Given the description of an element on the screen output the (x, y) to click on. 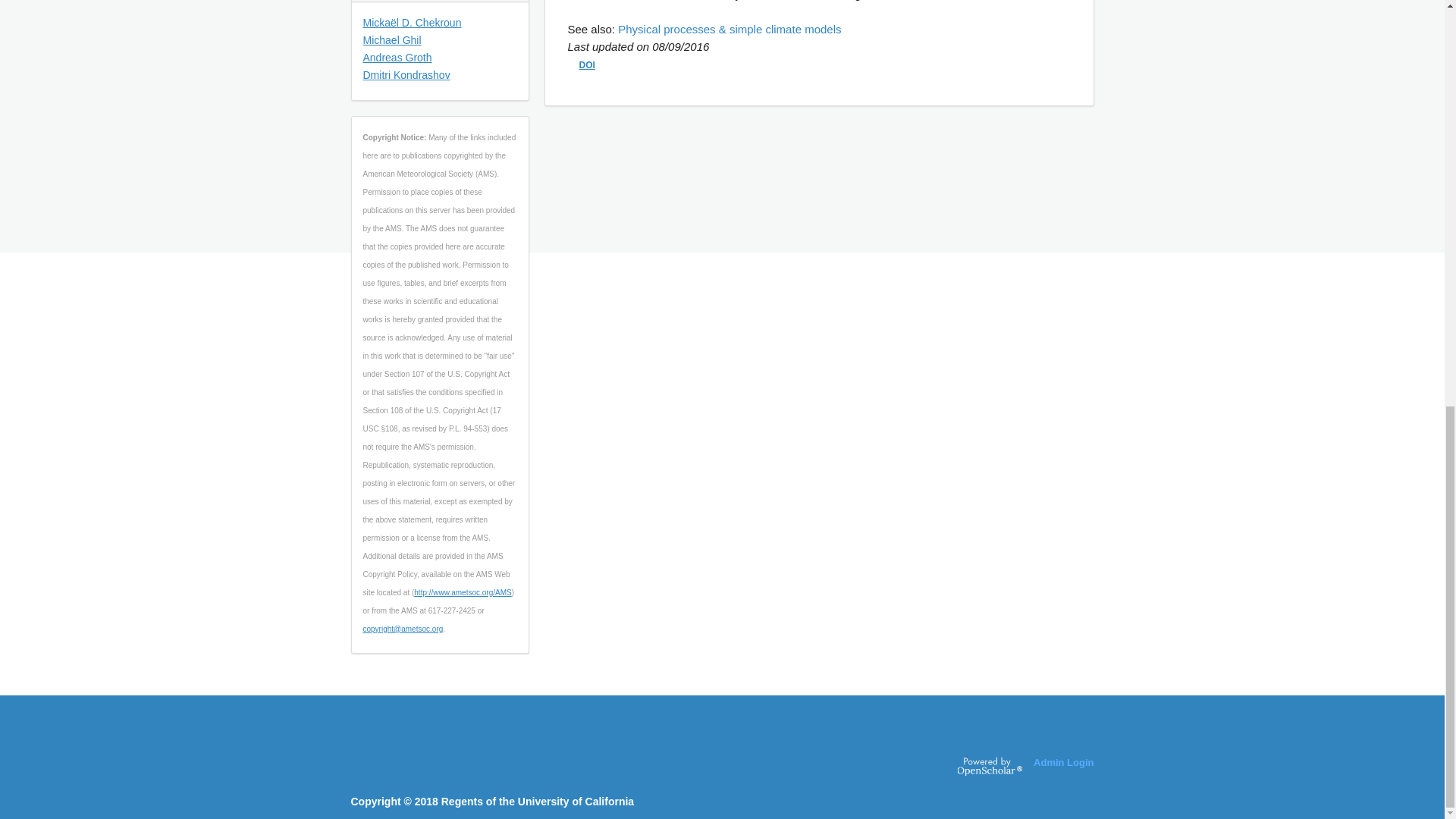
Click to view the CrossRef listing for this node (587, 64)
DOI (587, 64)
